Given the description of an element on the screen output the (x, y) to click on. 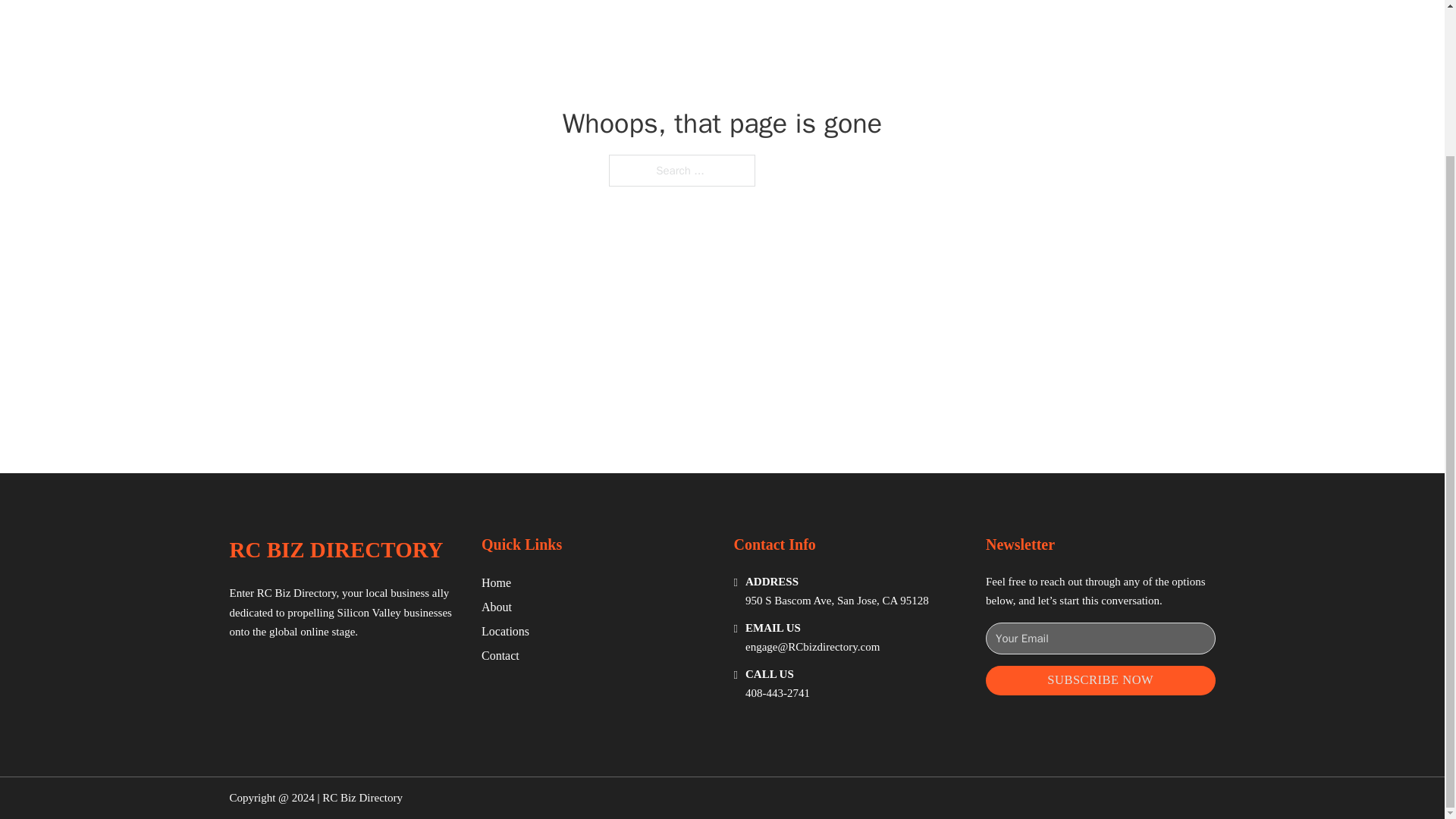
SUBSCRIBE NOW (1100, 680)
Locations (505, 630)
About (496, 607)
Home (496, 582)
408-443-2741 (777, 693)
Contact (500, 655)
RC BIZ DIRECTORY (335, 549)
